Given the description of an element on the screen output the (x, y) to click on. 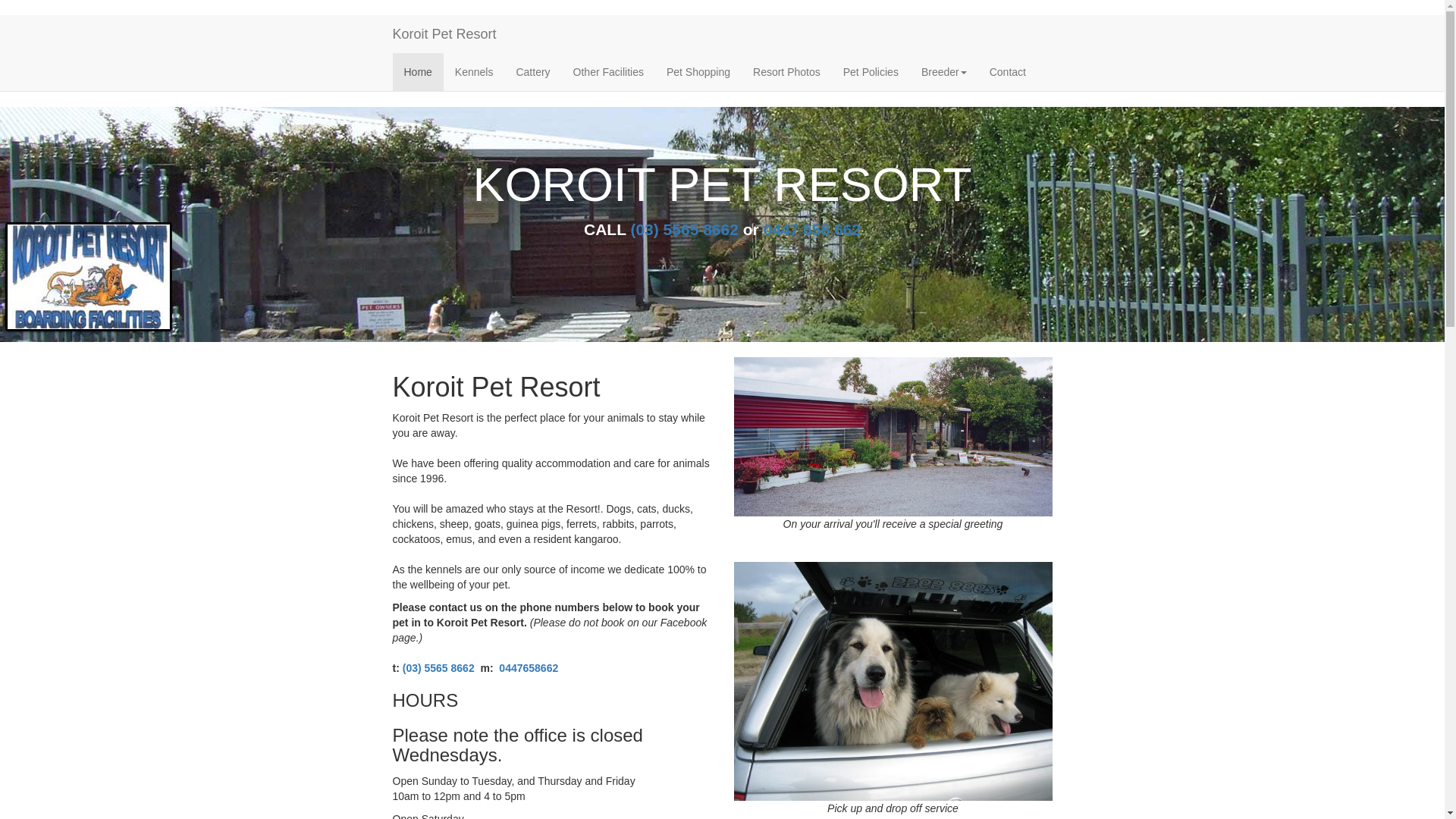
Other Facilities Element type: text (608, 72)
Kennels Element type: text (474, 72)
Contact Element type: text (1007, 72)
Koroit Pet Resort Element type: hover (893, 436)
Resort Photos Element type: text (786, 72)
Breeder Element type: text (944, 72)
Pet Policies Element type: text (870, 72)
(03) 5565 8662 Element type: text (683, 229)
Pet Shopping Element type: text (698, 72)
Cattery Element type: text (532, 72)
Home Element type: text (417, 72)
0447658662 Element type: text (528, 668)
(03) 5565 8662 Element type: text (438, 668)
Drop off and pick up service Element type: hover (893, 680)
Koroit Pet Resort Element type: text (443, 34)
0447 658 662 Element type: text (811, 229)
